Given the description of an element on the screen output the (x, y) to click on. 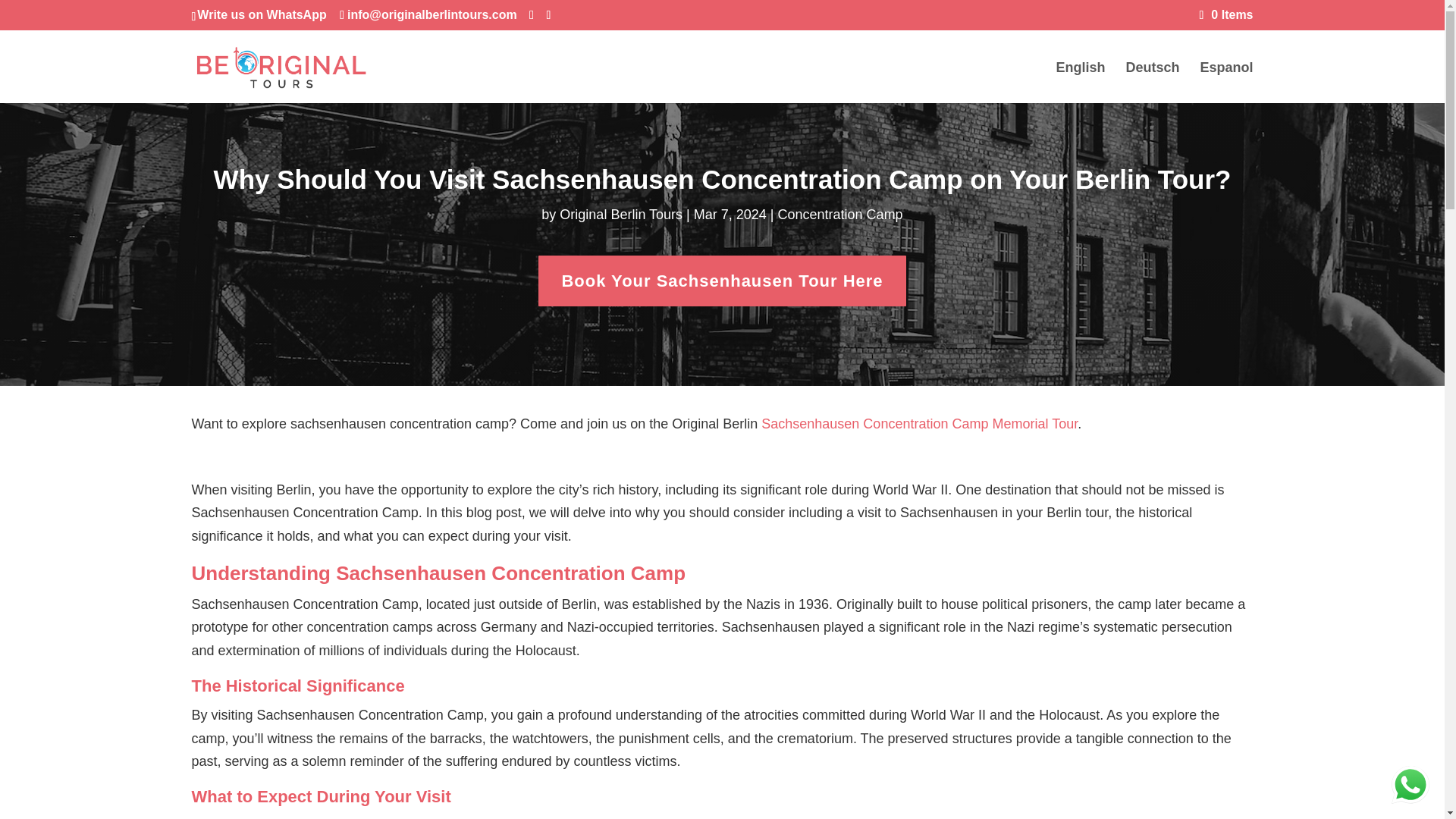
0 Items (1226, 14)
Book Your Sachsenhausen Tour Here (721, 280)
Sachsenhausen Concentration Camp Memorial Tour (919, 423)
Write us on WhatsApp (261, 14)
Espanol (1225, 82)
Concentration Camp (839, 214)
Posts by Original Berlin Tours (620, 214)
Original Berlin Tours (620, 214)
Deutsch (1152, 82)
WhatsApp us (1410, 784)
